Given the description of an element on the screen output the (x, y) to click on. 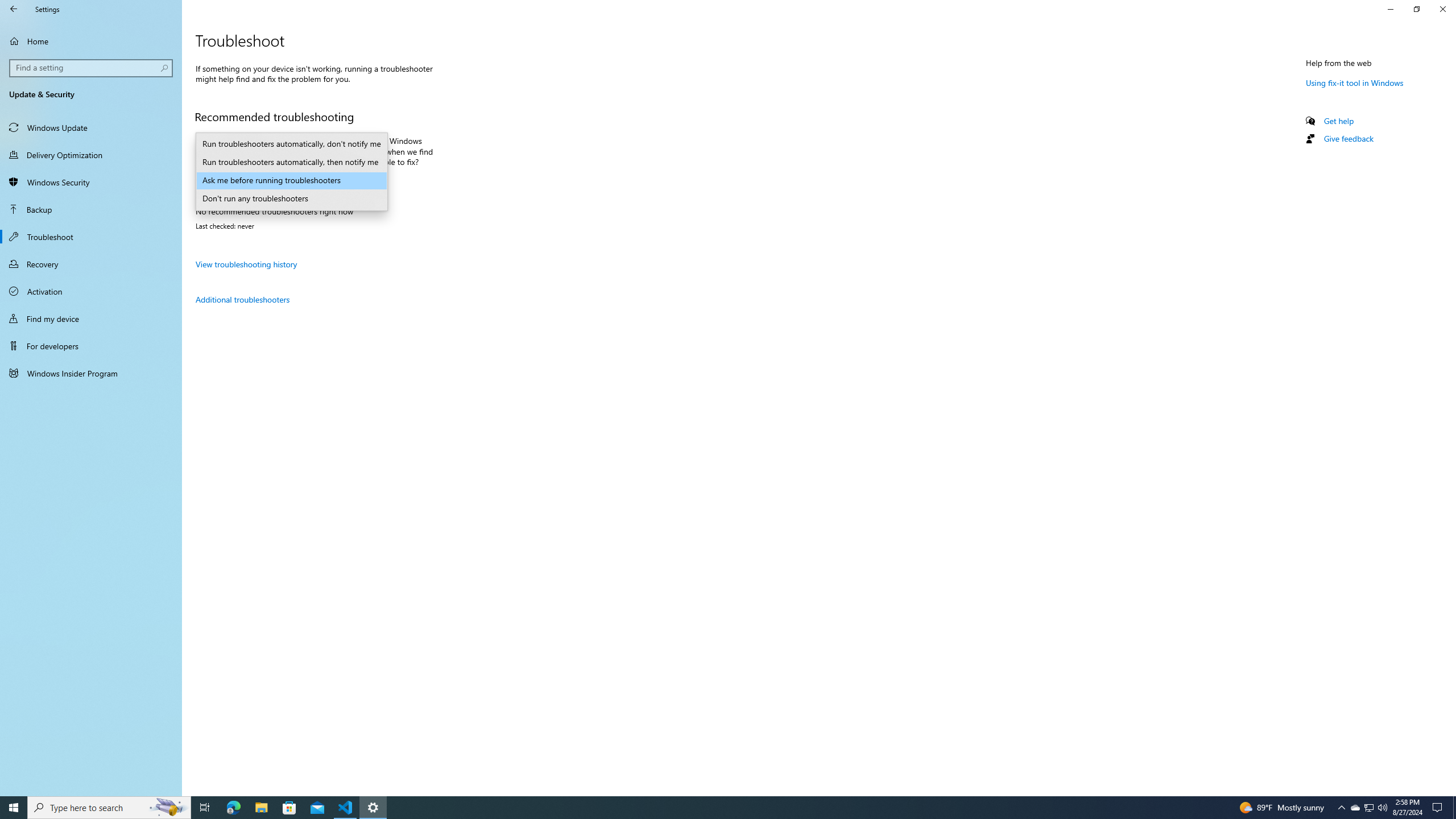
Backup (91, 208)
